Given the description of an element on the screen output the (x, y) to click on. 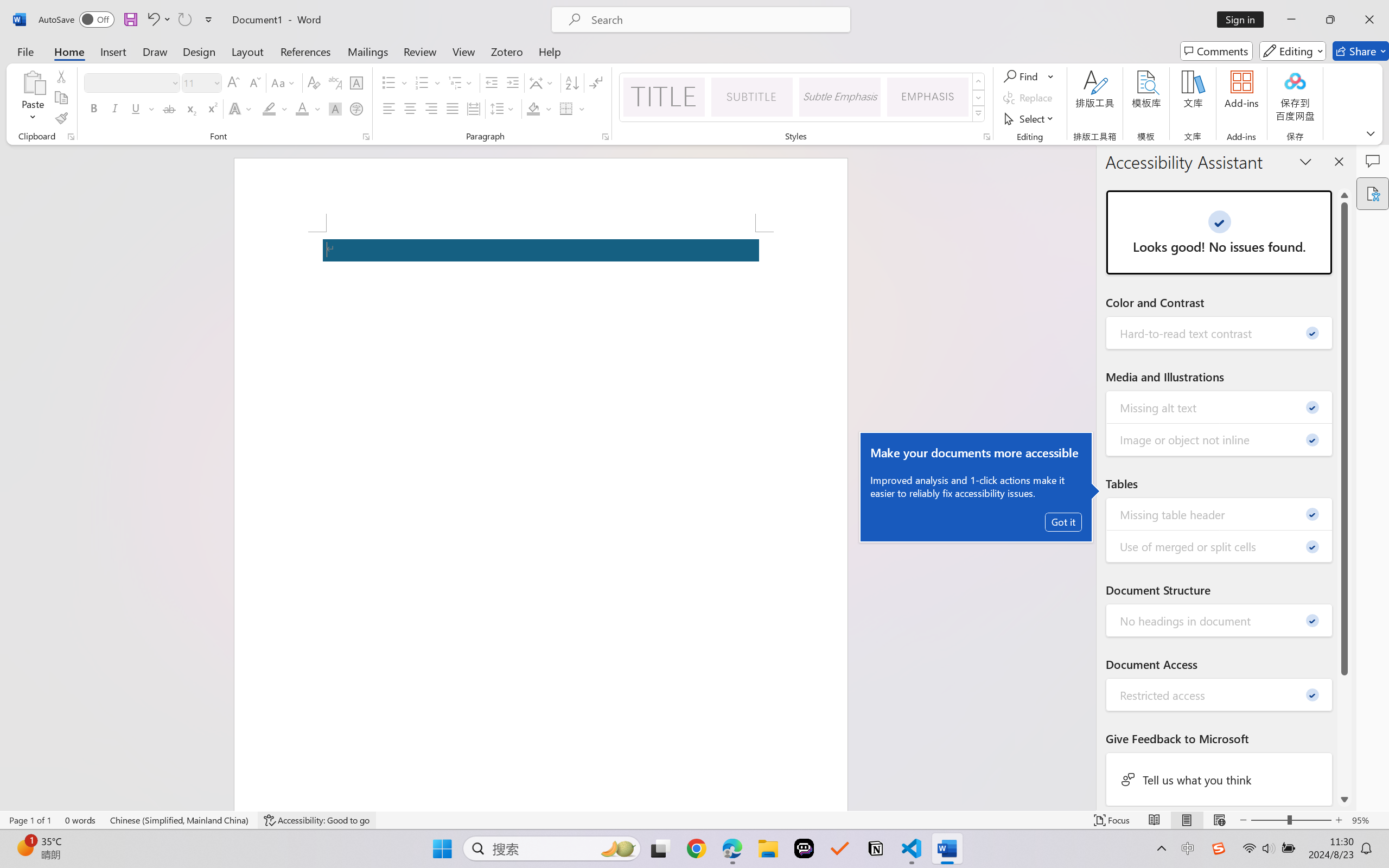
Sign in (1244, 19)
Tell us what you think - 1 (1219, 779)
Image or object not inline - 0 (1219, 438)
Editing (1292, 50)
Accessibility Assistant (1373, 193)
